Given the description of an element on the screen output the (x, y) to click on. 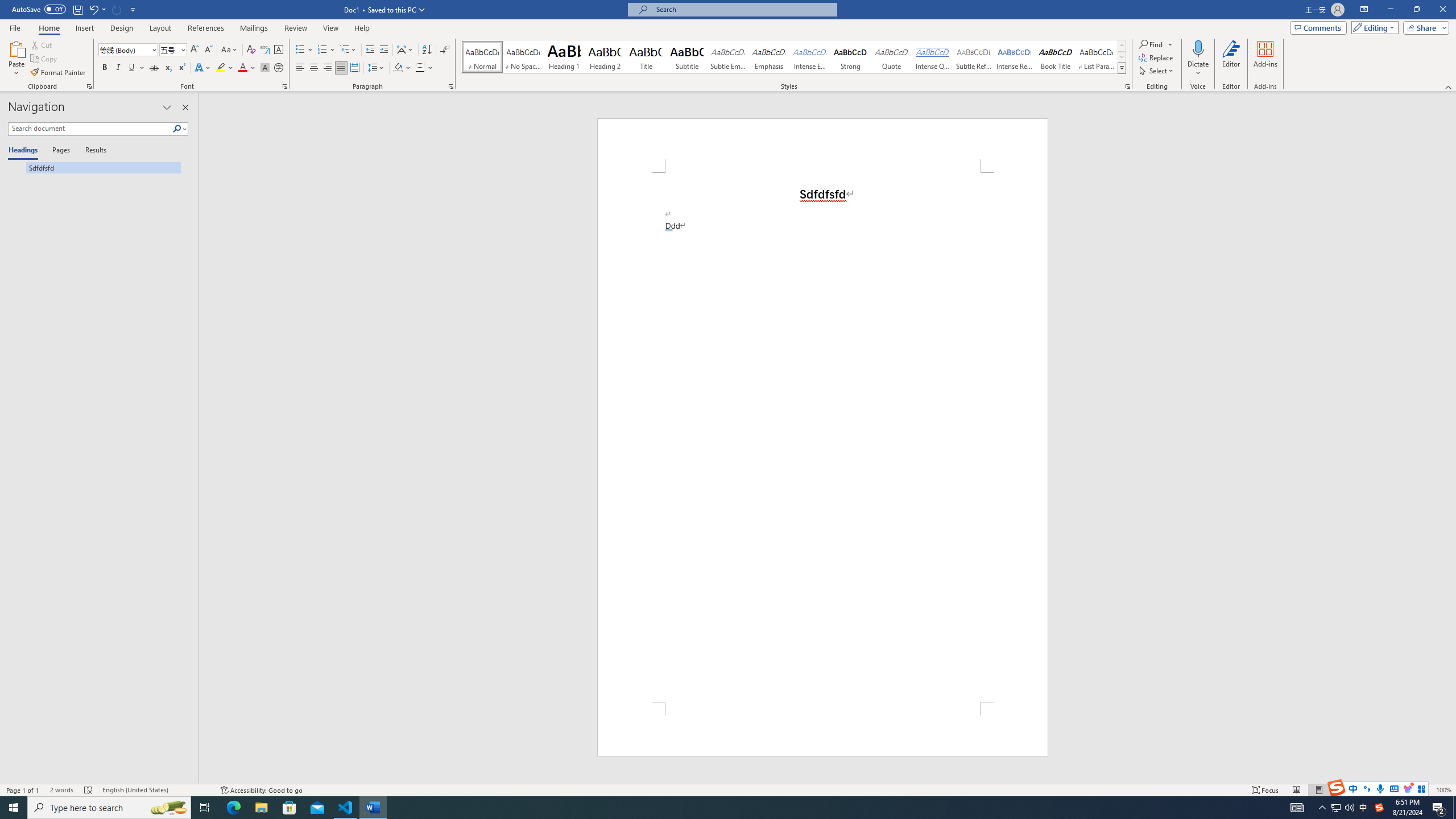
Underline (136, 67)
Copy (45, 58)
Undo AutoCorrect (92, 9)
Line and Paragraph Spacing (376, 67)
Undo AutoCorrect (96, 9)
Search (177, 128)
Microsoft search (742, 9)
Replace... (1156, 56)
Cut (42, 44)
Multilevel List (347, 49)
Subscript (167, 67)
Paragraph... (450, 85)
Mailings (253, 28)
Text Highlight Color (224, 67)
Save (77, 9)
